Given the description of an element on the screen output the (x, y) to click on. 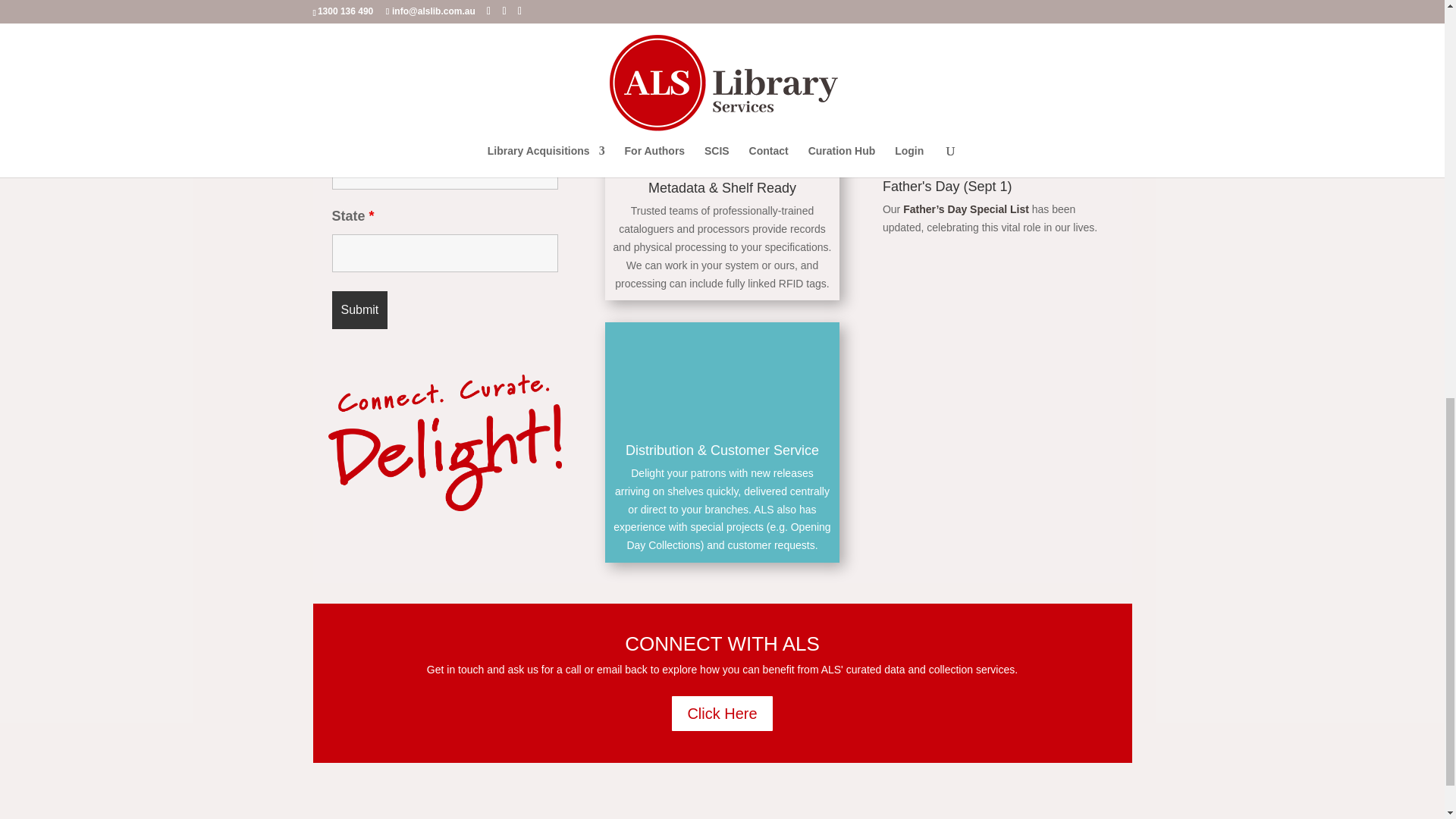
Ask us (652, 21)
Submit (359, 310)
Submit (359, 310)
